Given the description of an element on the screen output the (x, y) to click on. 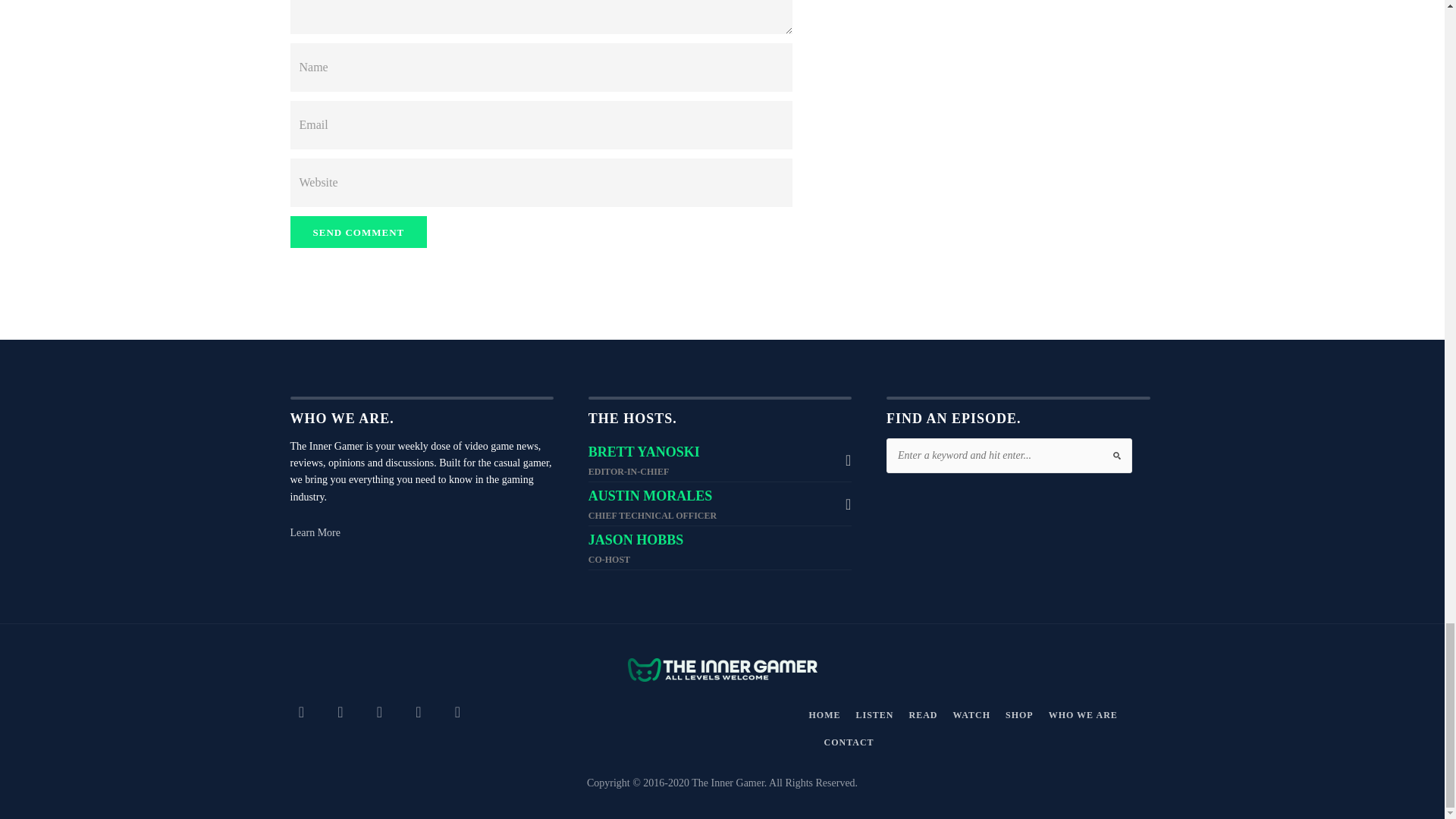
AUSTIN MORALES (650, 495)
JASON HOBBS (636, 539)
Send Comment (357, 232)
The Inner Gamer (721, 674)
Learn More (314, 532)
BRETT YANOSKI (644, 451)
Send Comment (357, 232)
